Given the description of an element on the screen output the (x, y) to click on. 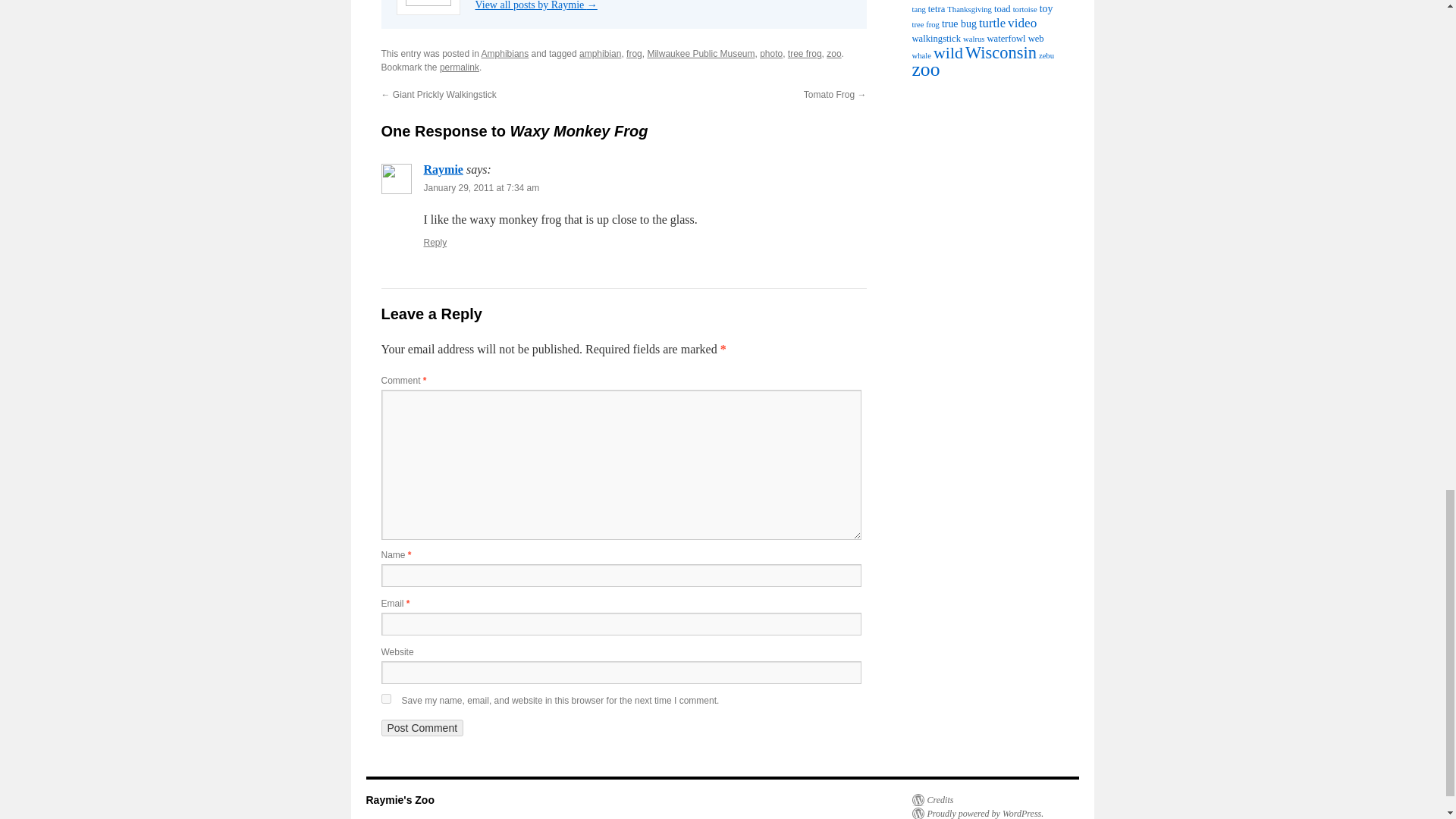
amphibian (600, 53)
frog (634, 53)
photo (771, 53)
Permalink to Waxy Monkey Frog (459, 67)
yes (385, 698)
zoo (834, 53)
permalink (459, 67)
Milwaukee Public Museum (700, 53)
Post Comment (421, 727)
tree frog (804, 53)
